Given the description of an element on the screen output the (x, y) to click on. 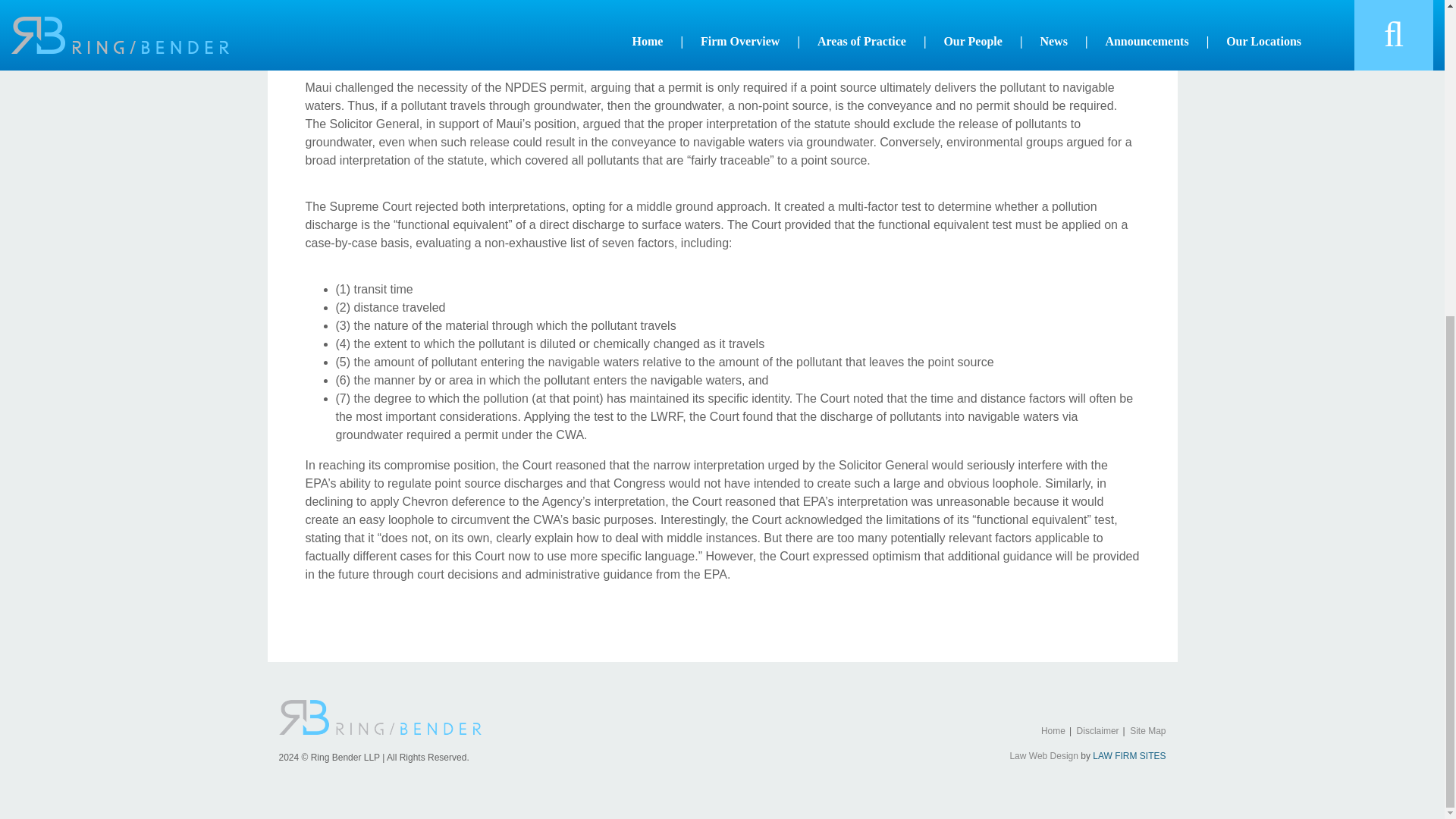
Disclaimer (1098, 730)
Site Map (1147, 730)
Law Web Design (1043, 756)
Home (1053, 730)
